Given the description of an element on the screen output the (x, y) to click on. 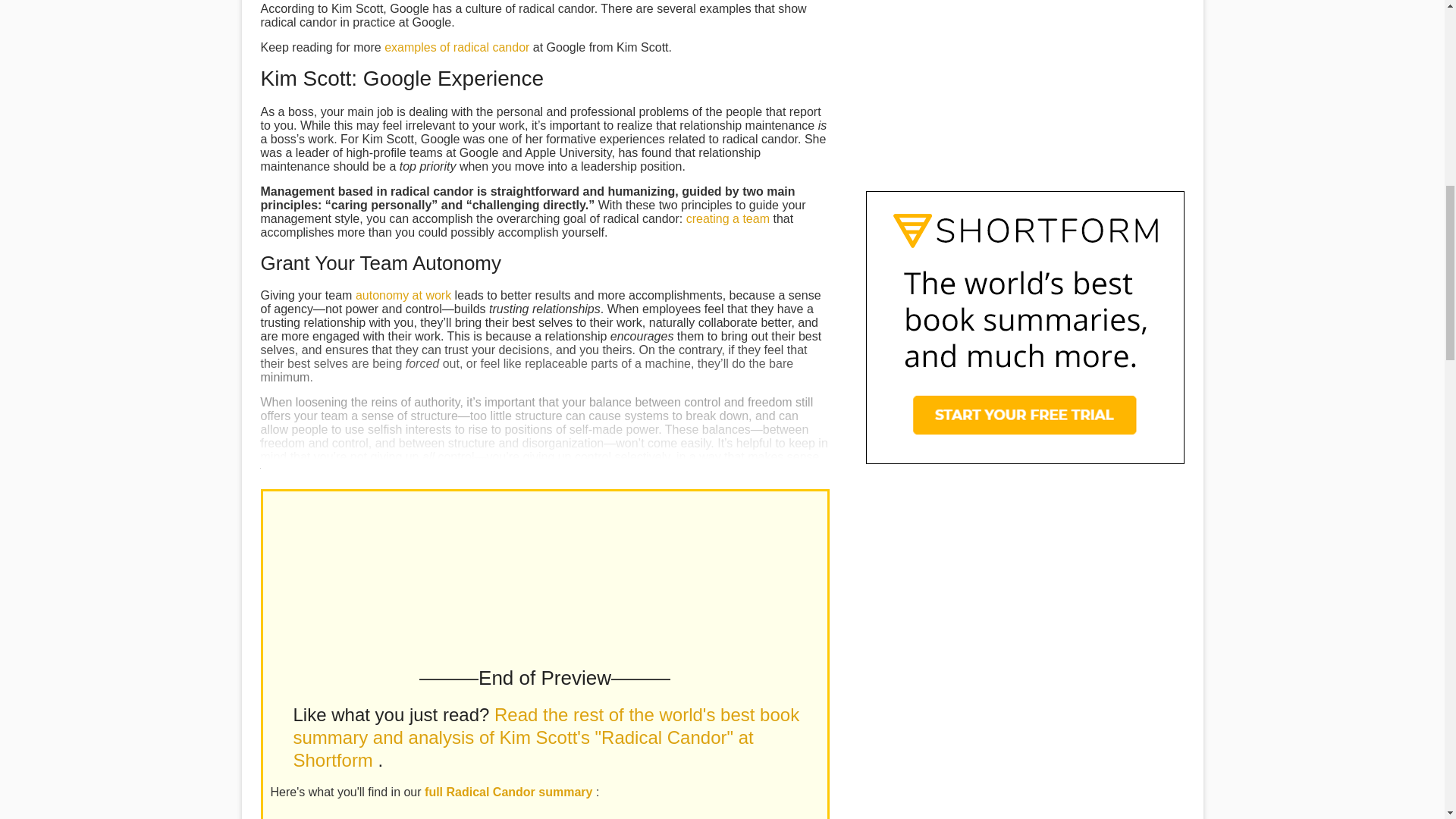
full Radical Candor summary (510, 791)
autonomy at work (403, 295)
examples of radical candor (456, 47)
creating a team (727, 218)
